Given the description of an element on the screen output the (x, y) to click on. 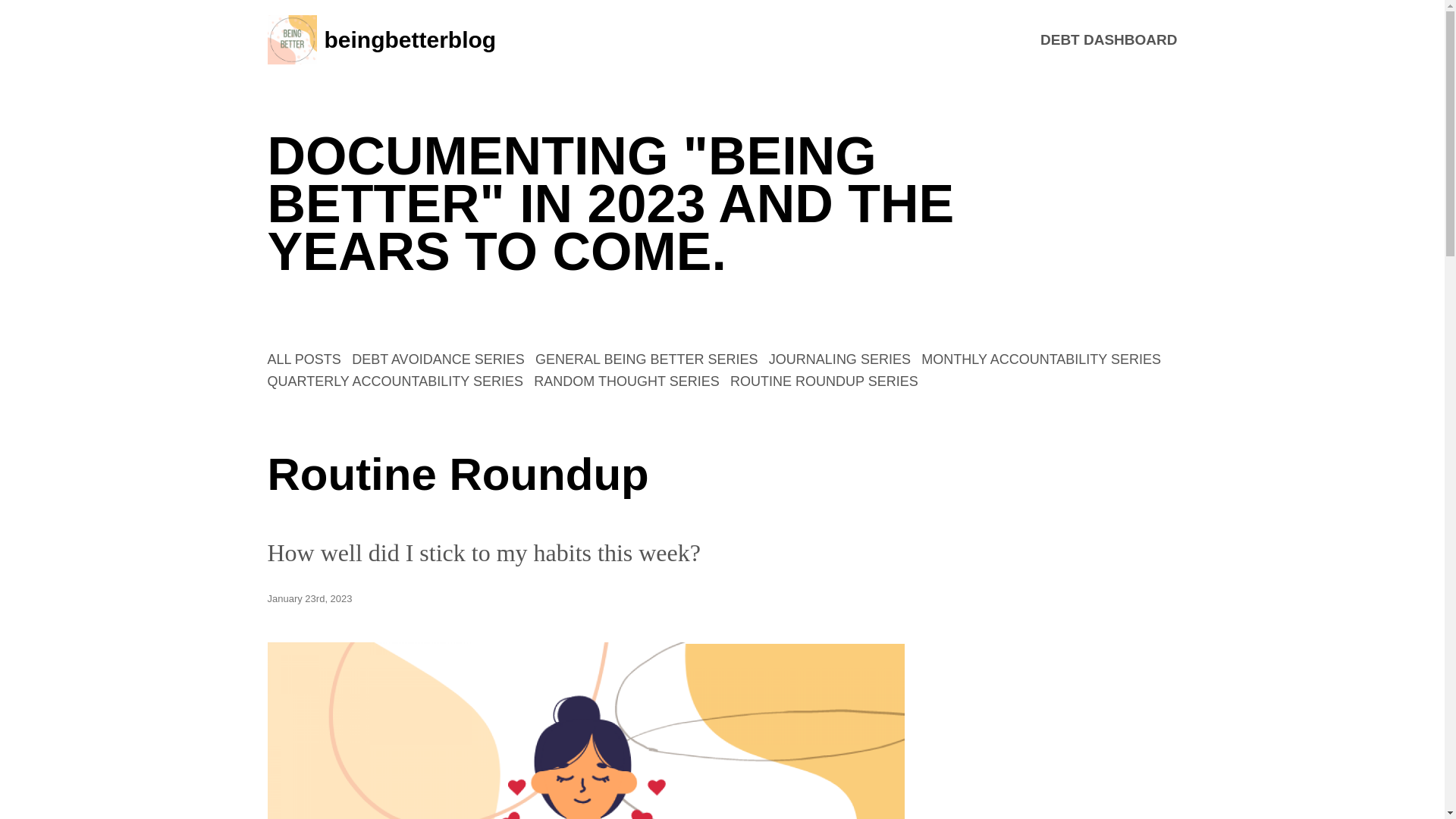
RANDOM THOUGHT SERIES (626, 381)
ALL POSTS (303, 359)
GENERAL BEING BETTER SERIES (646, 359)
MONTHLY ACCOUNTABILITY SERIES (1040, 359)
JOURNALING SERIES (839, 359)
ROUTINE ROUNDUP SERIES (824, 381)
beingbetterblog (381, 39)
DEBT DASHBOARD (1109, 39)
DEBT AVOIDANCE SERIES (438, 359)
QUARTERLY ACCOUNTABILITY SERIES (394, 381)
